Given the description of an element on the screen output the (x, y) to click on. 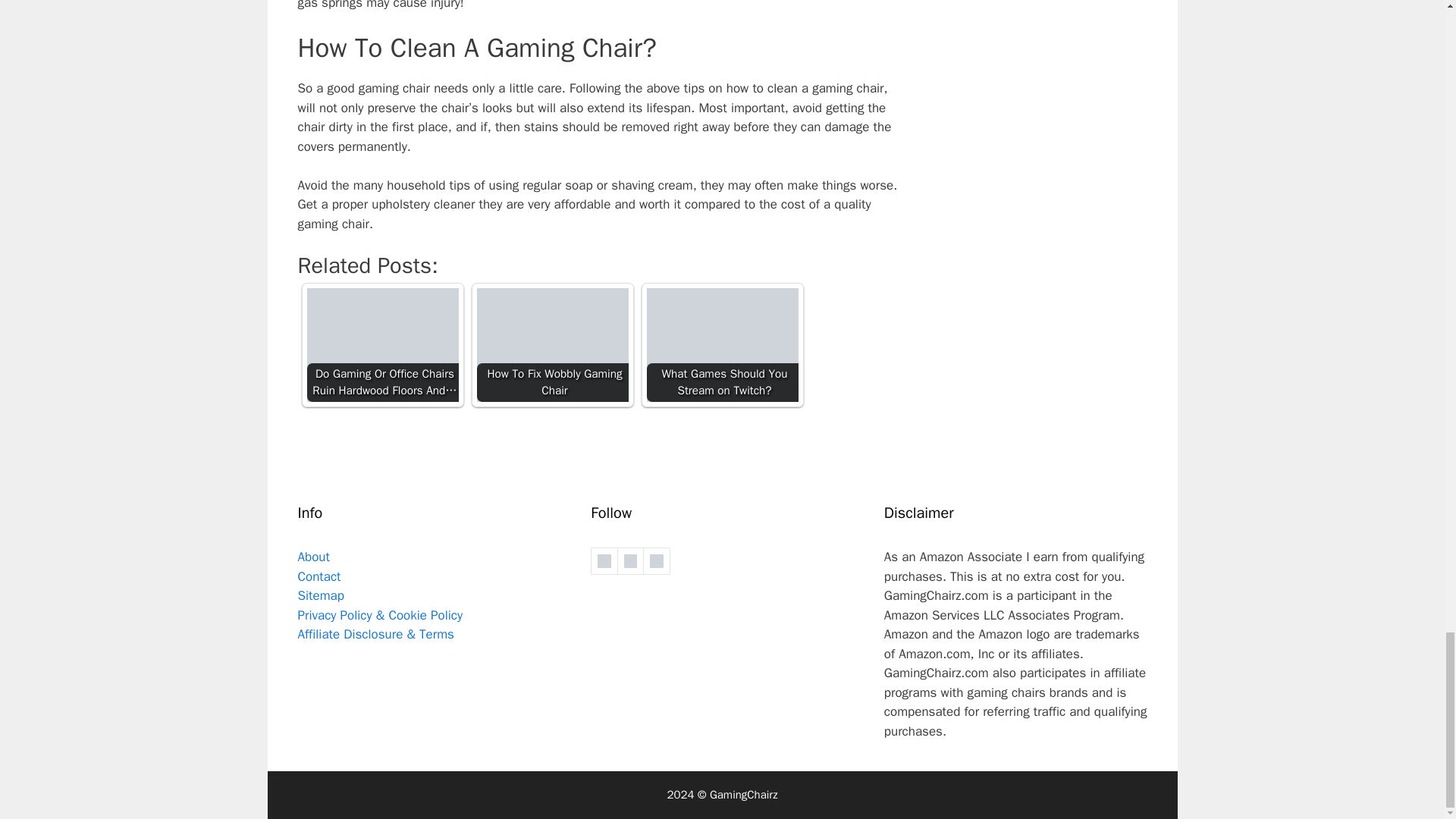
What Games Should You Stream on Twitch? (721, 345)
What Games Should You Stream on Twitch? (721, 345)
How To Fix Wobbly Gaming Chair (551, 345)
How To Fix Wobbly Gaming Chair (551, 345)
